Given the description of an element on the screen output the (x, y) to click on. 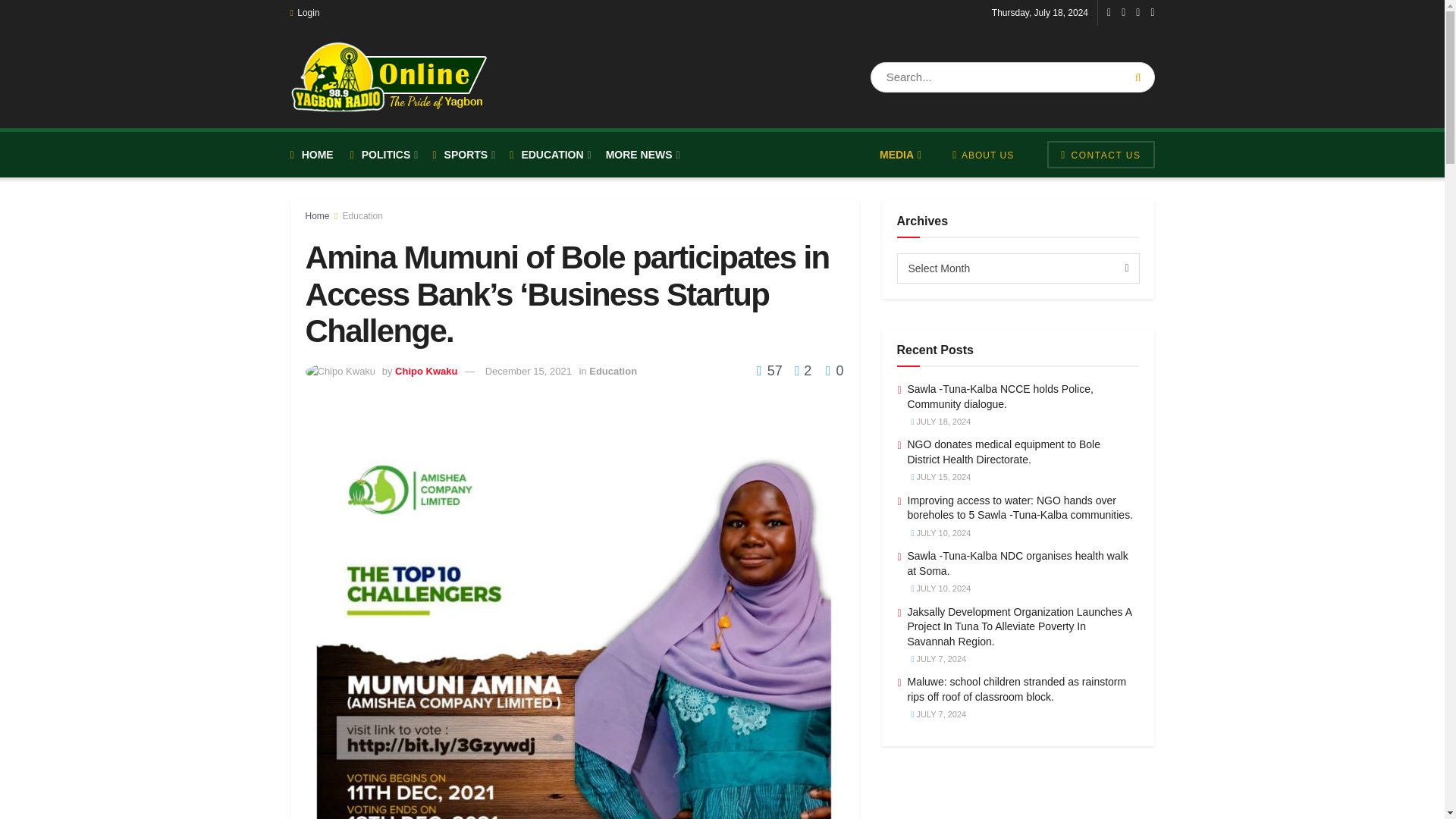
SPORTS (462, 154)
Login (303, 12)
CONTACT US (1100, 154)
HOME (311, 154)
EDUCATION (548, 154)
MORE NEWS (641, 154)
POLITICS (383, 154)
ABOUT US (983, 154)
